Given the description of an element on the screen output the (x, y) to click on. 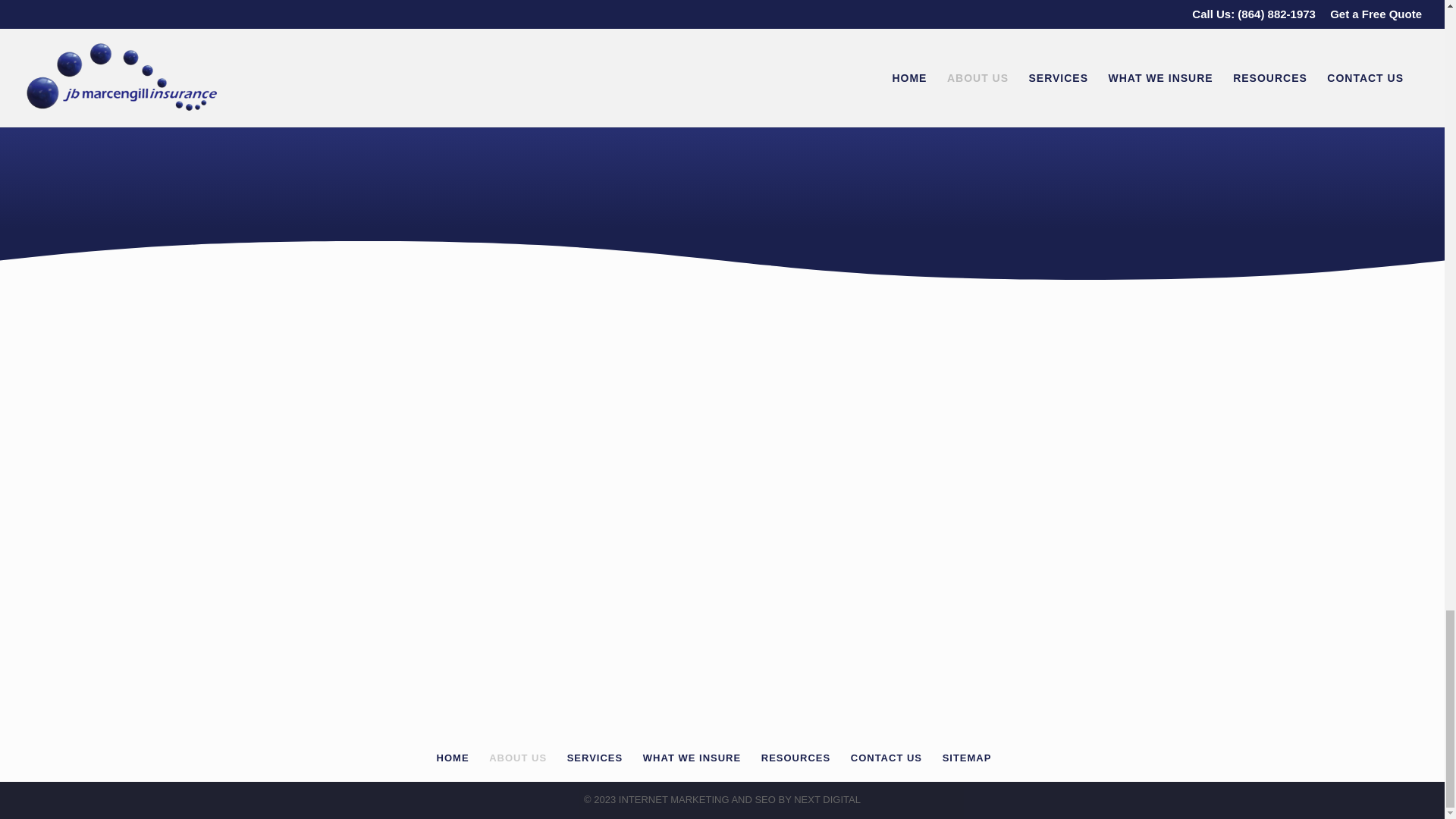
ABOUT US (518, 757)
HOME (452, 757)
SERVICES (595, 757)
